Given the description of an element on the screen output the (x, y) to click on. 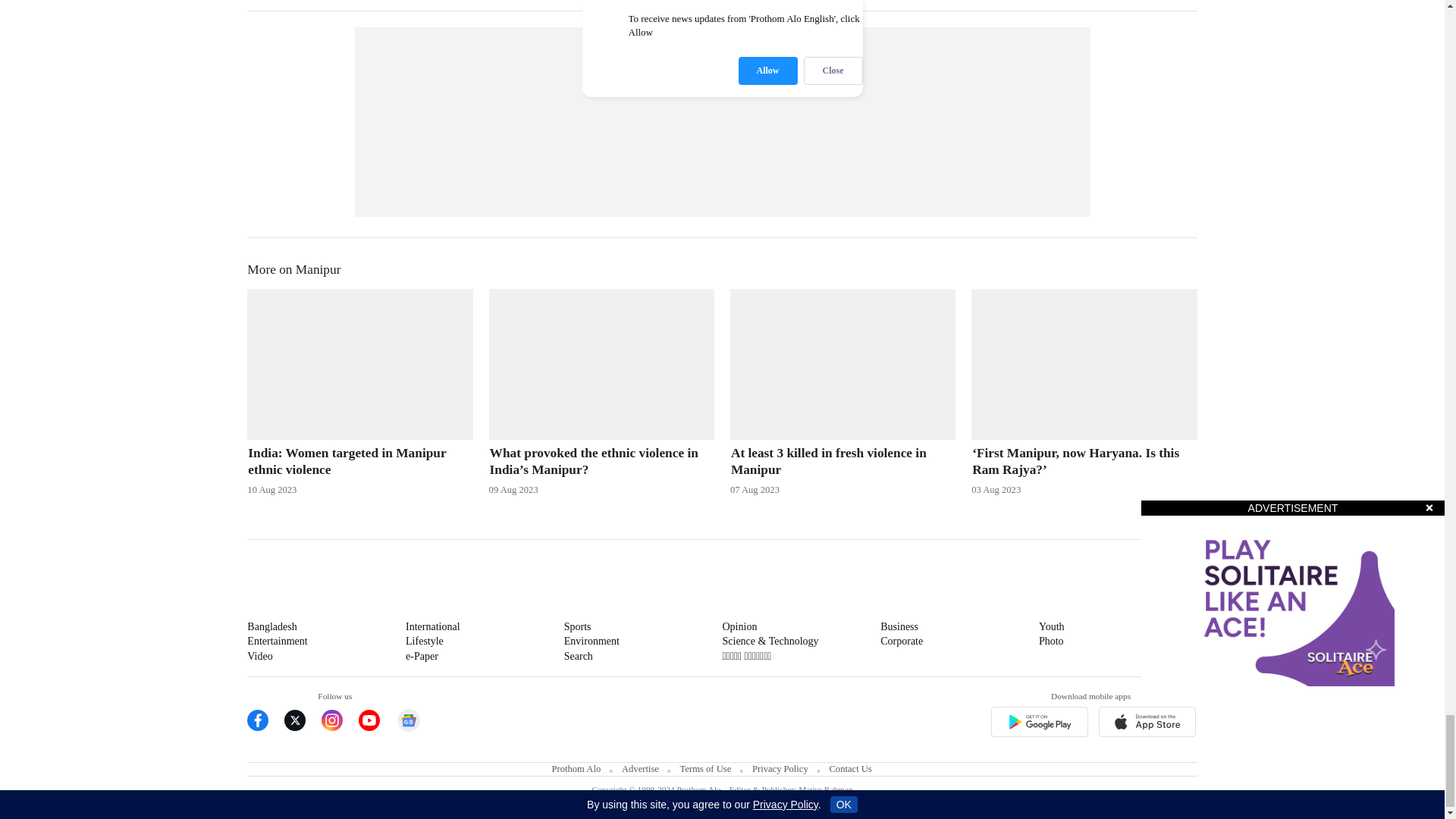
3rd party ad content (722, 121)
